Given the description of an element on the screen output the (x, y) to click on. 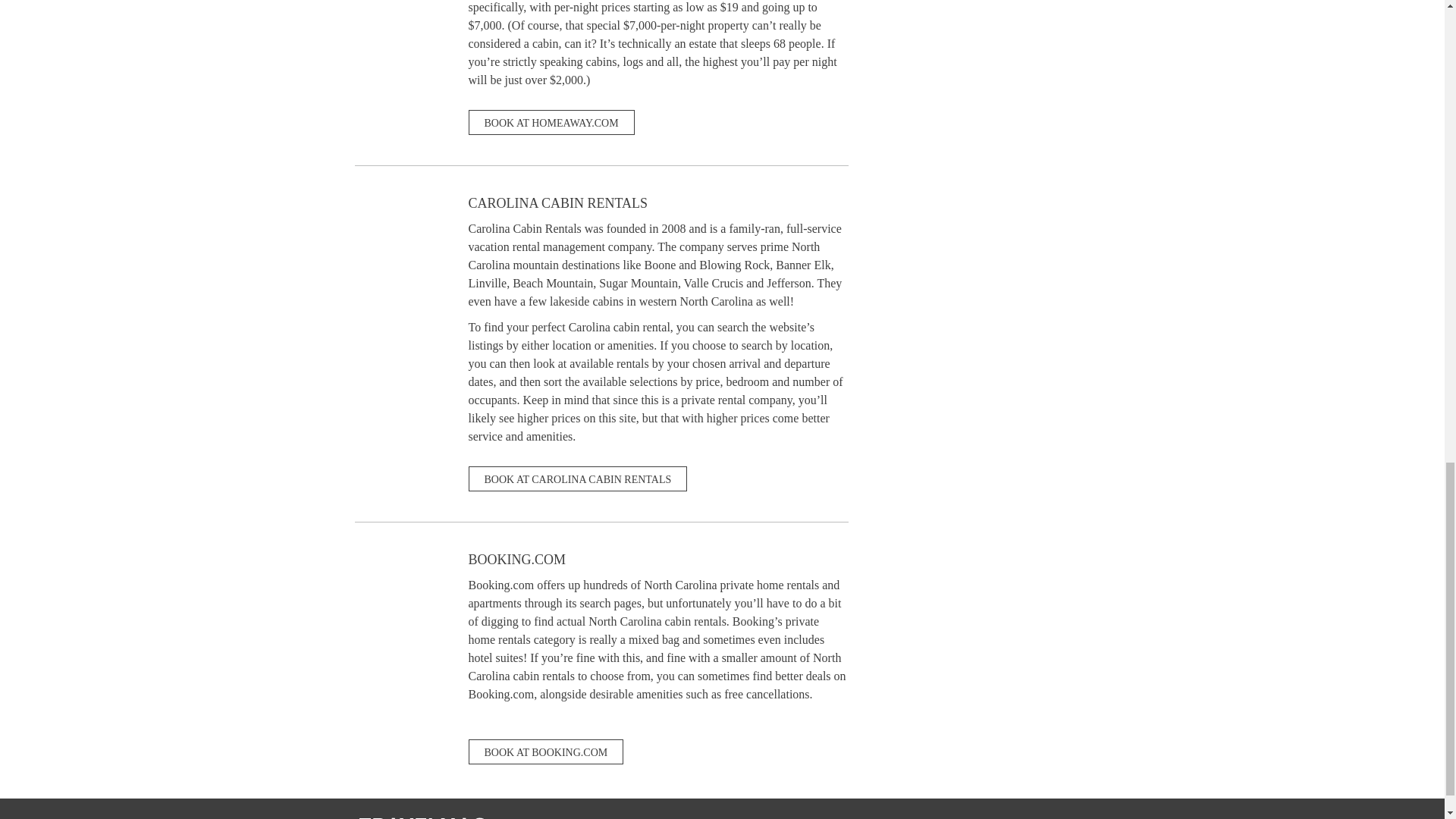
BOOK AT HOMEAWAY.COM (551, 122)
BOOK AT BOOKING.COM (546, 751)
BOOK AT CAROLINA CABIN RENTALS (577, 478)
